Given the description of an element on the screen output the (x, y) to click on. 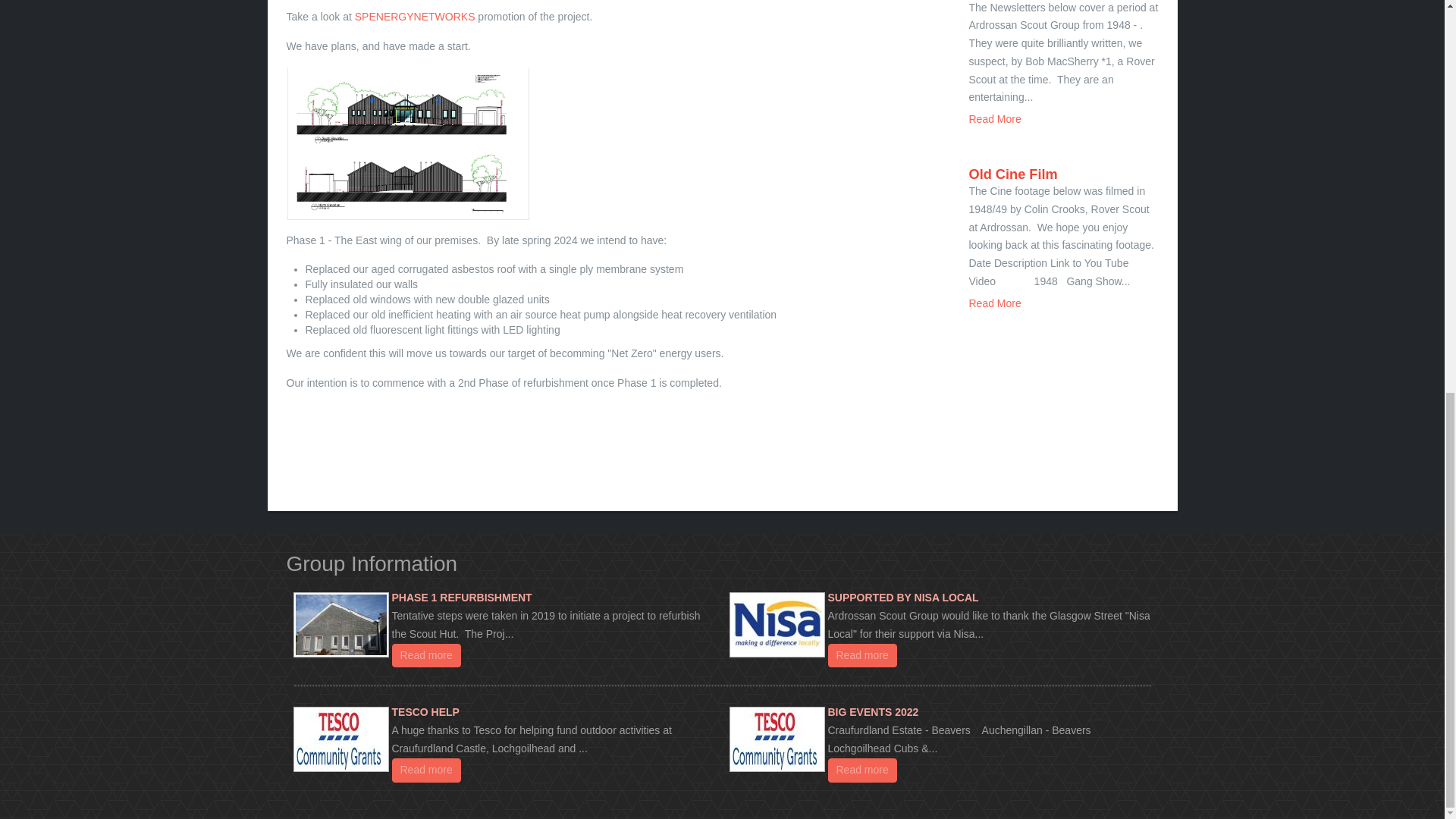
Read more (426, 654)
Supported by Nisa Local (903, 597)
Supported by Nisa Local (776, 624)
Read More (995, 303)
Phase 1 Refurbishment (341, 624)
Read More (995, 119)
SPENERGYNETWORKS (415, 16)
Tesco help (426, 769)
Phase 1 Refurbishment (426, 654)
Big Events 2022 (776, 739)
Tesco help (341, 739)
Supported by Nisa Local (861, 654)
Big Events 2022 (873, 711)
Old Newsletters (995, 119)
Phase 1 Refurbishment (461, 597)
